Given the description of an element on the screen output the (x, y) to click on. 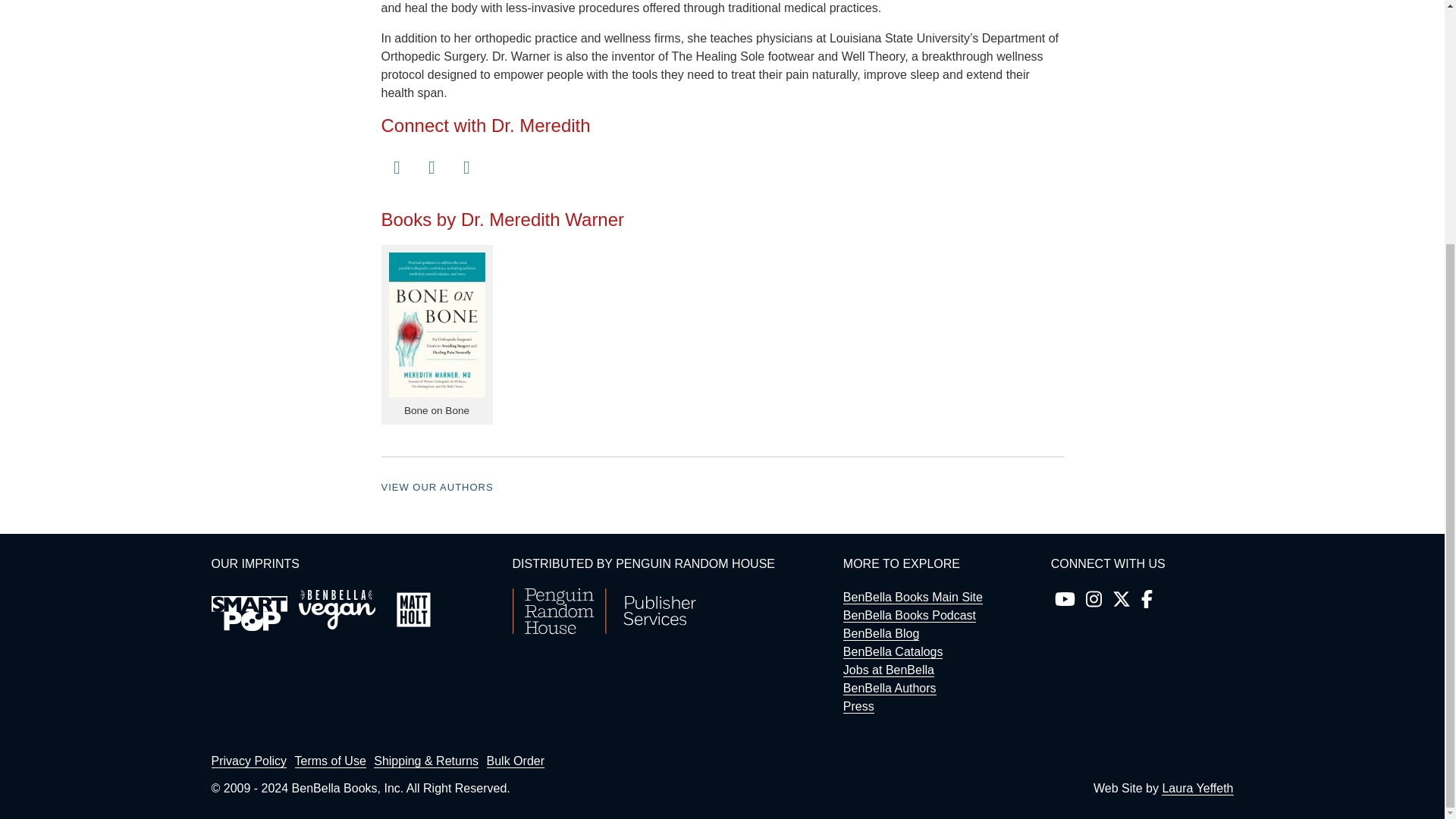
Search (1147, 2)
Penguin Random House (603, 630)
BenBella Vegan (336, 609)
Matt Holt Books (413, 609)
SmartPop Books (248, 613)
VIEW OUR AUTHORS (436, 487)
